Given the description of an element on the screen output the (x, y) to click on. 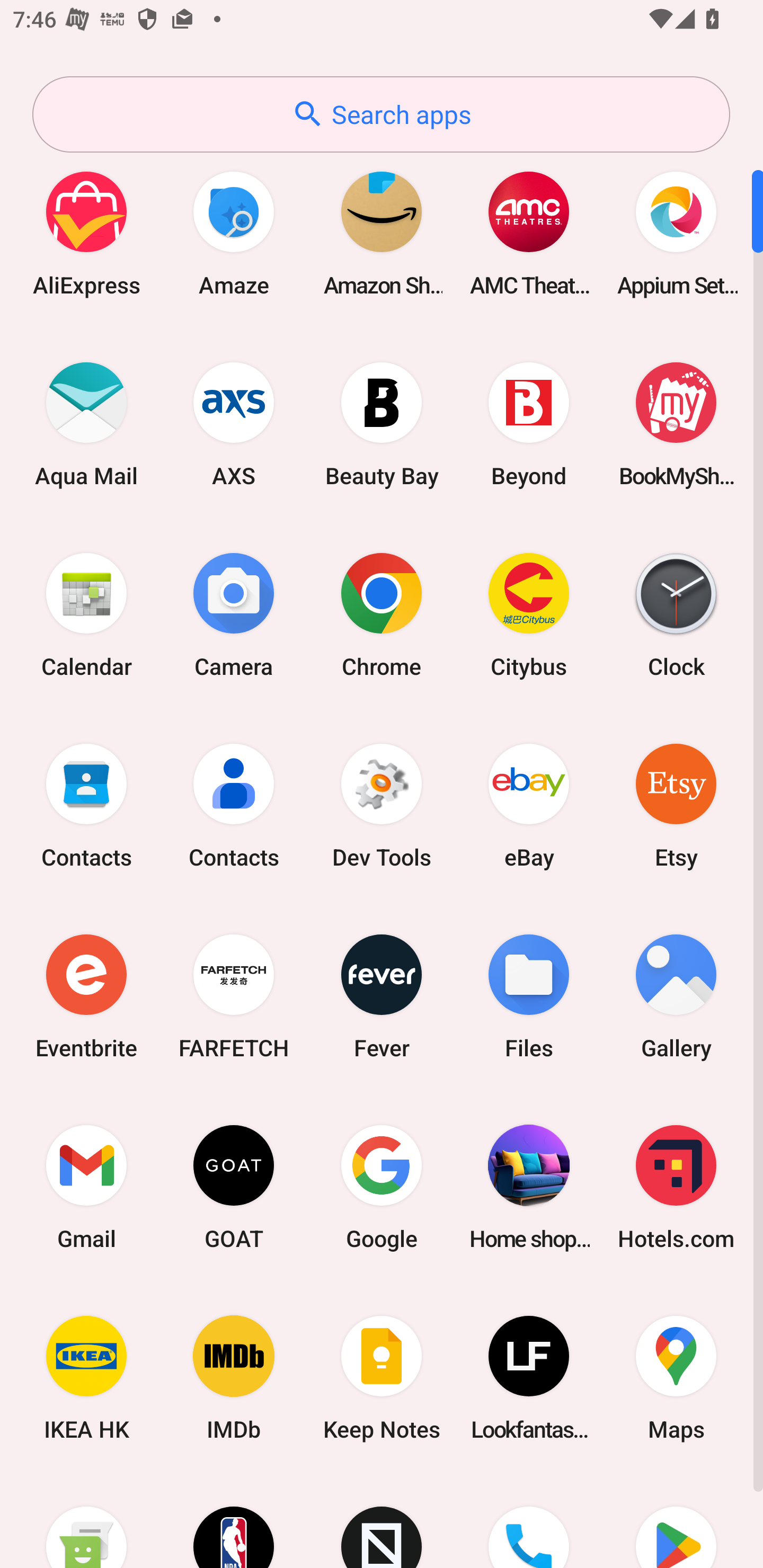
  Search apps (381, 114)
AliExpress (86, 233)
Amaze (233, 233)
Amazon Shopping (381, 233)
AMC Theatres (528, 233)
Appium Settings (676, 233)
Aqua Mail (86, 424)
AXS (233, 424)
Beauty Bay (381, 424)
Beyond (528, 424)
BookMyShow (676, 424)
Calendar (86, 614)
Camera (233, 614)
Chrome (381, 614)
Citybus (528, 614)
Clock (676, 614)
Contacts (86, 805)
Contacts (233, 805)
Dev Tools (381, 805)
eBay (528, 805)
Etsy (676, 805)
Eventbrite (86, 996)
FARFETCH (233, 996)
Fever (381, 996)
Files (528, 996)
Gallery (676, 996)
Gmail (86, 1186)
GOAT (233, 1186)
Google (381, 1186)
Home shopping (528, 1186)
Hotels.com (676, 1186)
IKEA HK (86, 1377)
IMDb (233, 1377)
Keep Notes (381, 1377)
Lookfantastic (528, 1377)
Maps (676, 1377)
Messaging (86, 1520)
NBA (233, 1520)
Novelship (381, 1520)
Phone (528, 1520)
Play Store (676, 1520)
